Given the description of an element on the screen output the (x, y) to click on. 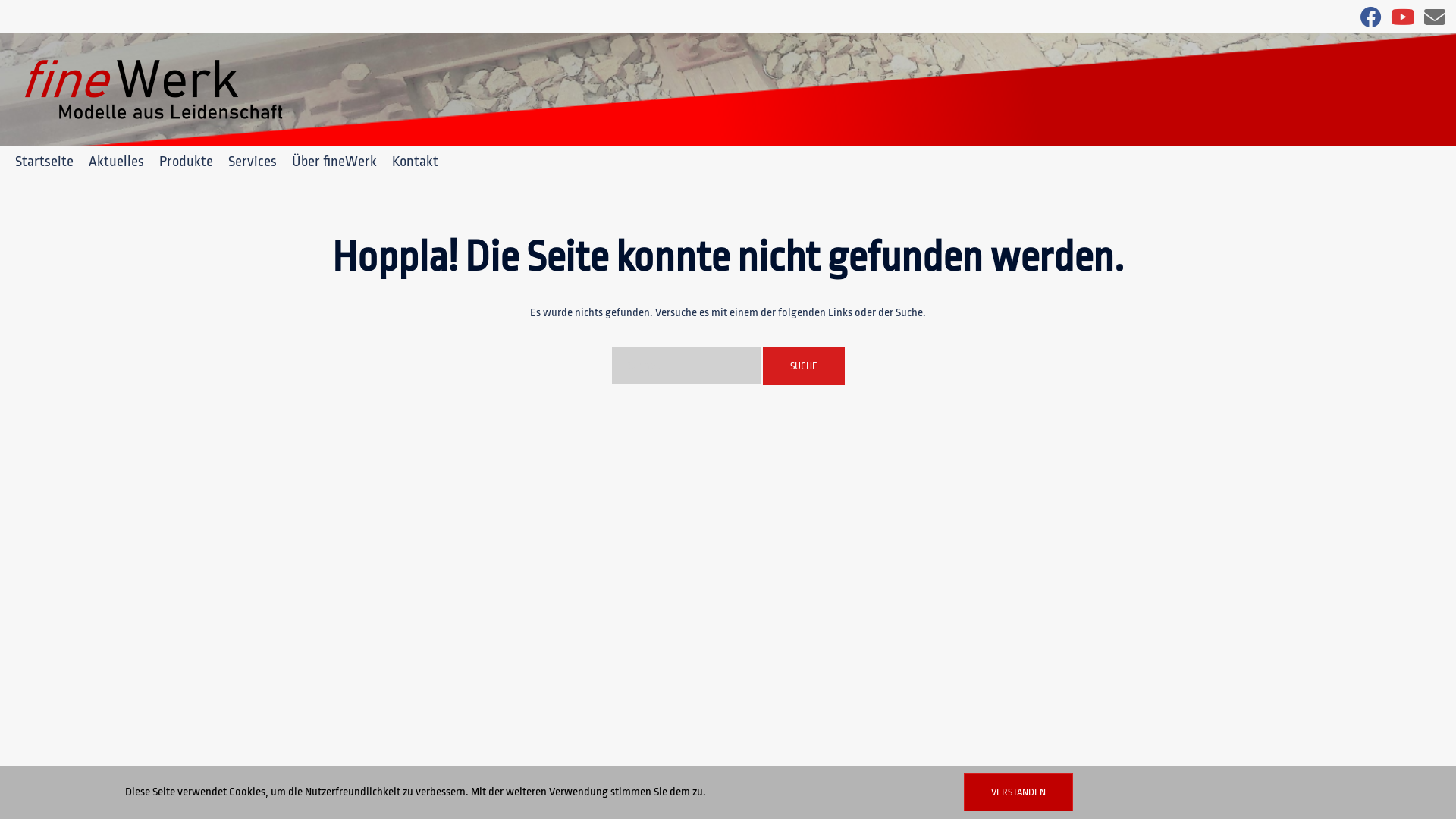
Skip to content Element type: text (0, 0)
Produkte Element type: text (185, 161)
fab fa-youtube Element type: text (1402, 21)
Suche Element type: text (803, 366)
Kontakt Element type: text (415, 161)
Aktuelles Element type: text (115, 161)
fab fa-facebook Element type: text (1370, 21)
Services Element type: text (252, 161)
fas fa-envelope Element type: text (1434, 21)
VERSTANDEN Element type: text (1018, 792)
Startseite Element type: text (44, 161)
